Given the description of an element on the screen output the (x, y) to click on. 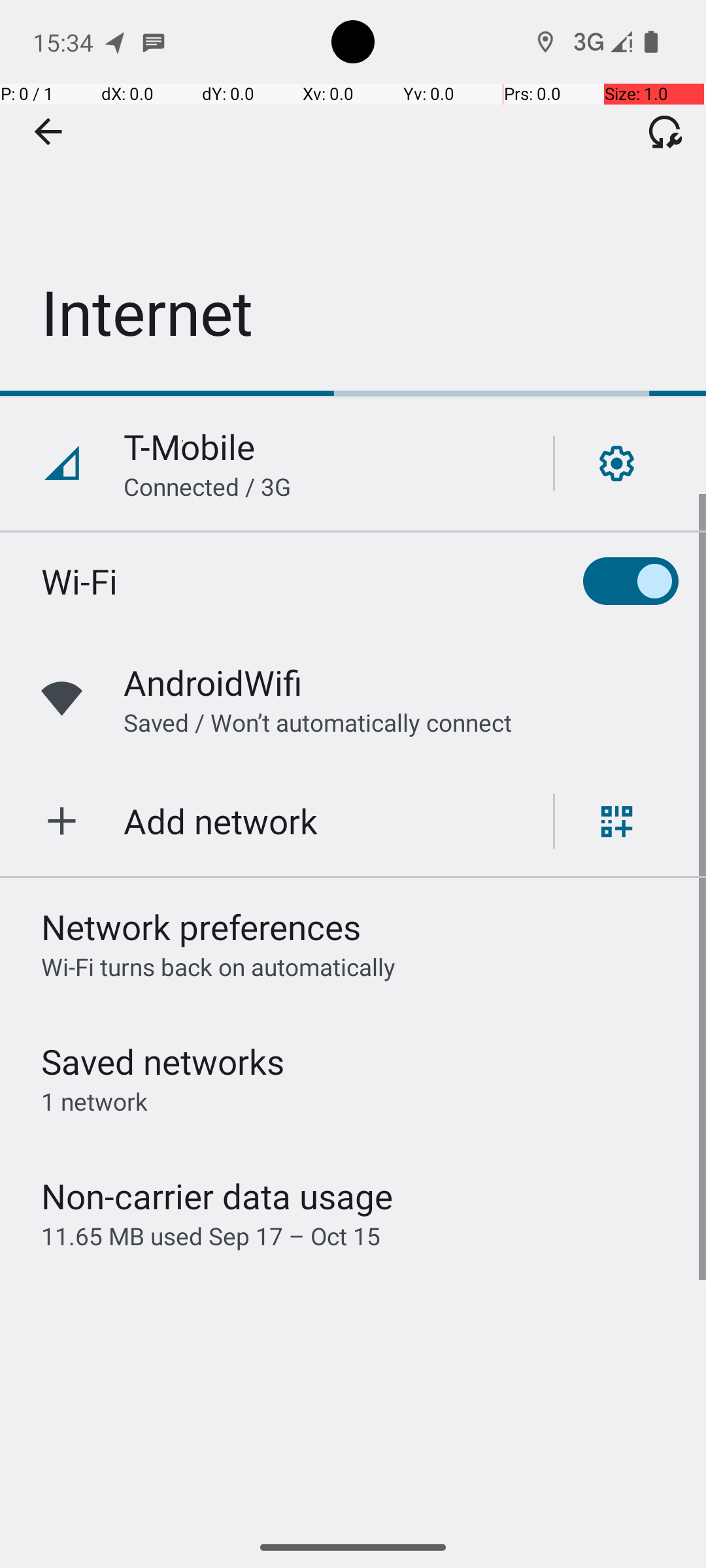
Internet Element type: android.widget.FrameLayout (353, 195)
Fix connectivity Element type: android.widget.TextView (664, 131)
AndroidWifi,Saved / Won’t automatically connect,Wifi signal full.,Open network Element type: android.widget.LinearLayout (353, 698)
T-Mobile Element type: android.widget.TextView (188, 446)
Connected / 3G Element type: android.widget.TextView (206, 486)
Wi-Fi Element type: android.widget.TextView (79, 580)
AndroidWifi Element type: android.widget.TextView (212, 682)
Saved / Won’t automatically connect Element type: android.widget.TextView (317, 721)
Add network Element type: android.widget.TextView (220, 820)
Scan QR code Element type: android.widget.ImageButton (616, 821)
Network preferences Element type: android.widget.TextView (201, 926)
Wi‑Fi turns back on automatically Element type: android.widget.TextView (218, 966)
Saved networks Element type: android.widget.TextView (163, 1061)
1 network Element type: android.widget.TextView (94, 1100)
Non-carrier data usage Element type: android.widget.TextView (216, 1195)
11.65 MB used Sep 17 – Oct 15 Element type: android.widget.TextView (210, 1235)
SMS Messenger notification: Noa Mohamed Element type: android.widget.ImageView (153, 41)
